Given the description of an element on the screen output the (x, y) to click on. 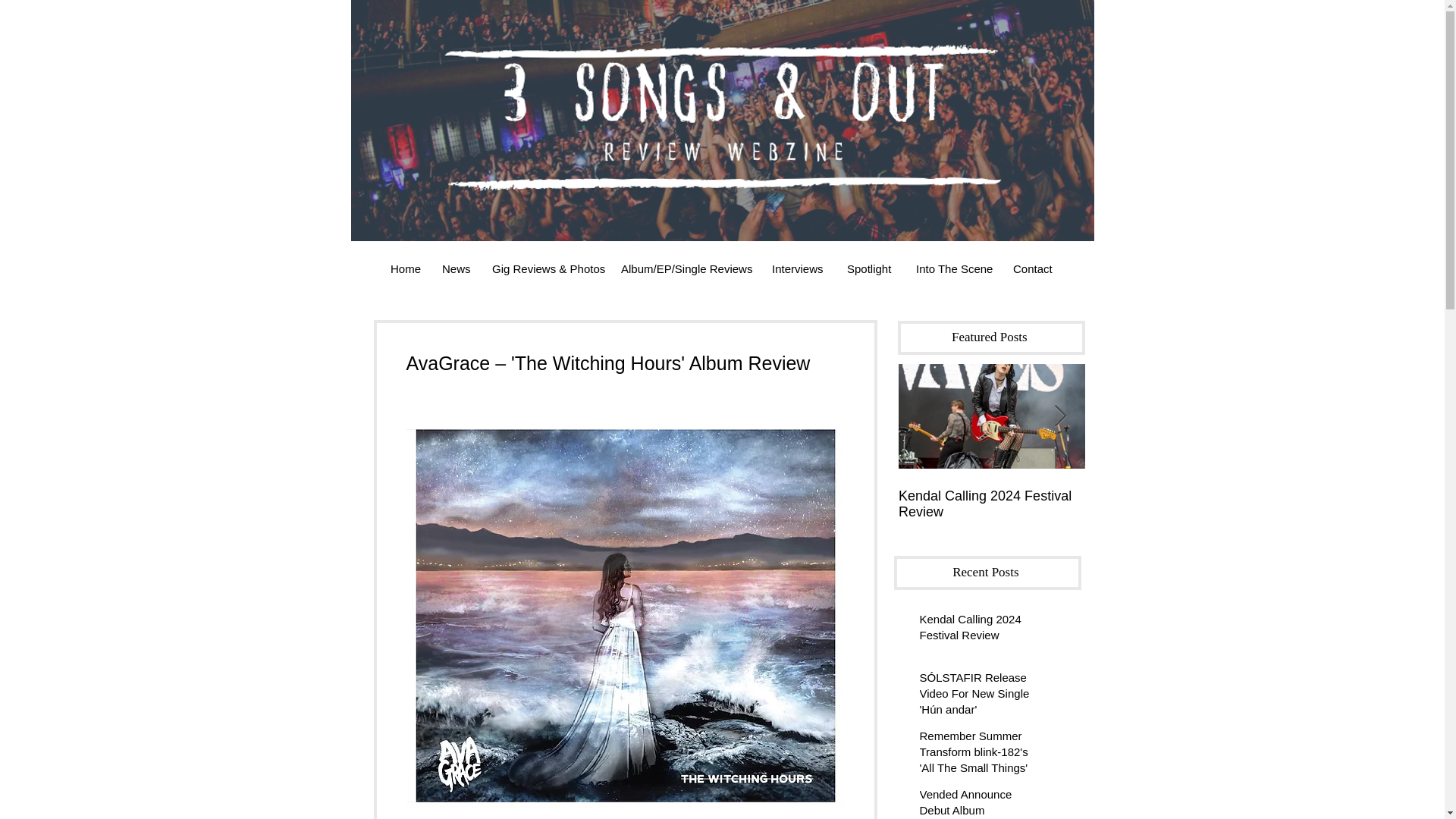
Interviews (797, 268)
Into The Scene (952, 268)
Spotlight (869, 268)
Contact (1032, 268)
Kendal Calling 2024 Festival Review (980, 629)
News (455, 268)
Home (404, 268)
Remember Summer Transform blink-182's 'All The Small Things' (980, 755)
Kendal Calling 2024 Festival Review (991, 504)
Vended Announce Debut Album (980, 802)
